Given the description of an element on the screen output the (x, y) to click on. 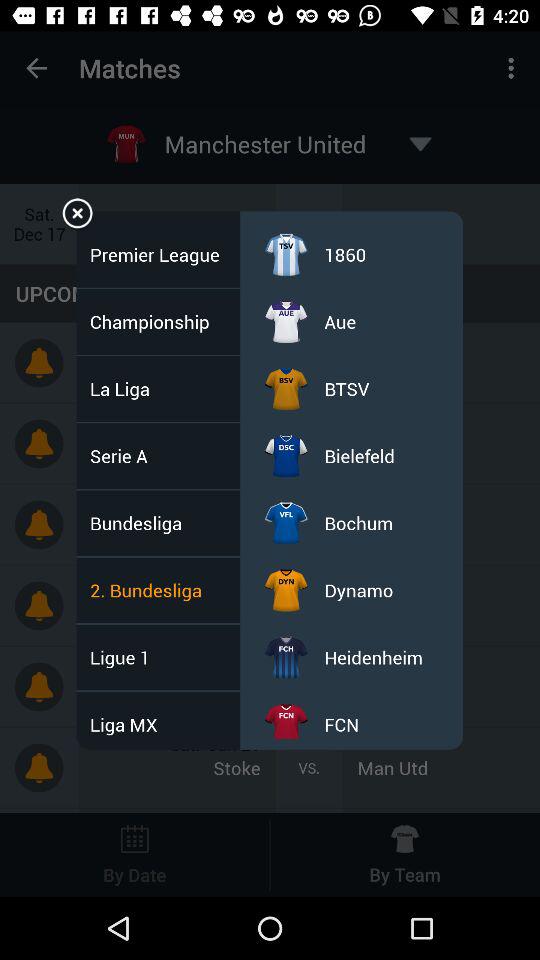
turn on the icon above fcn item (373, 657)
